Given the description of an element on the screen output the (x, y) to click on. 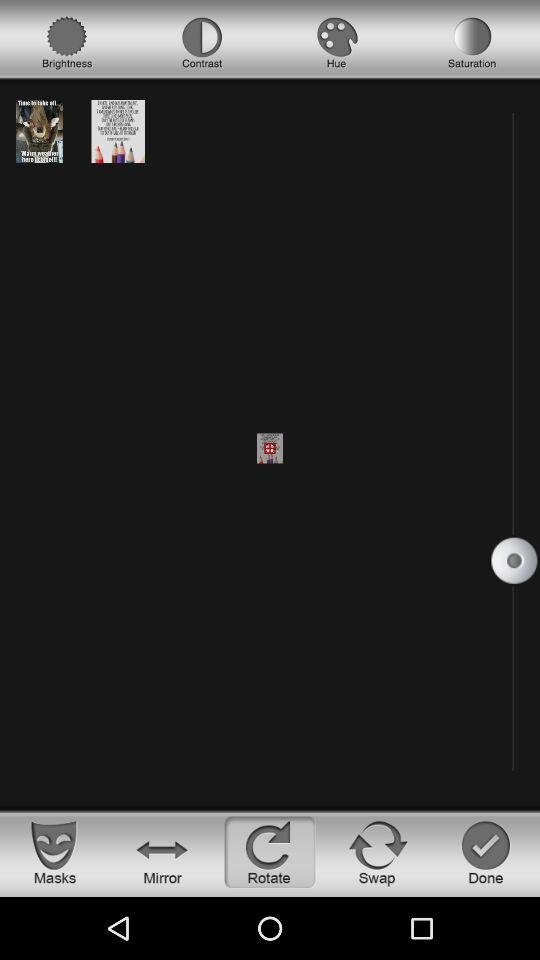
open the icon at the top right corner (472, 43)
